Given the description of an element on the screen output the (x, y) to click on. 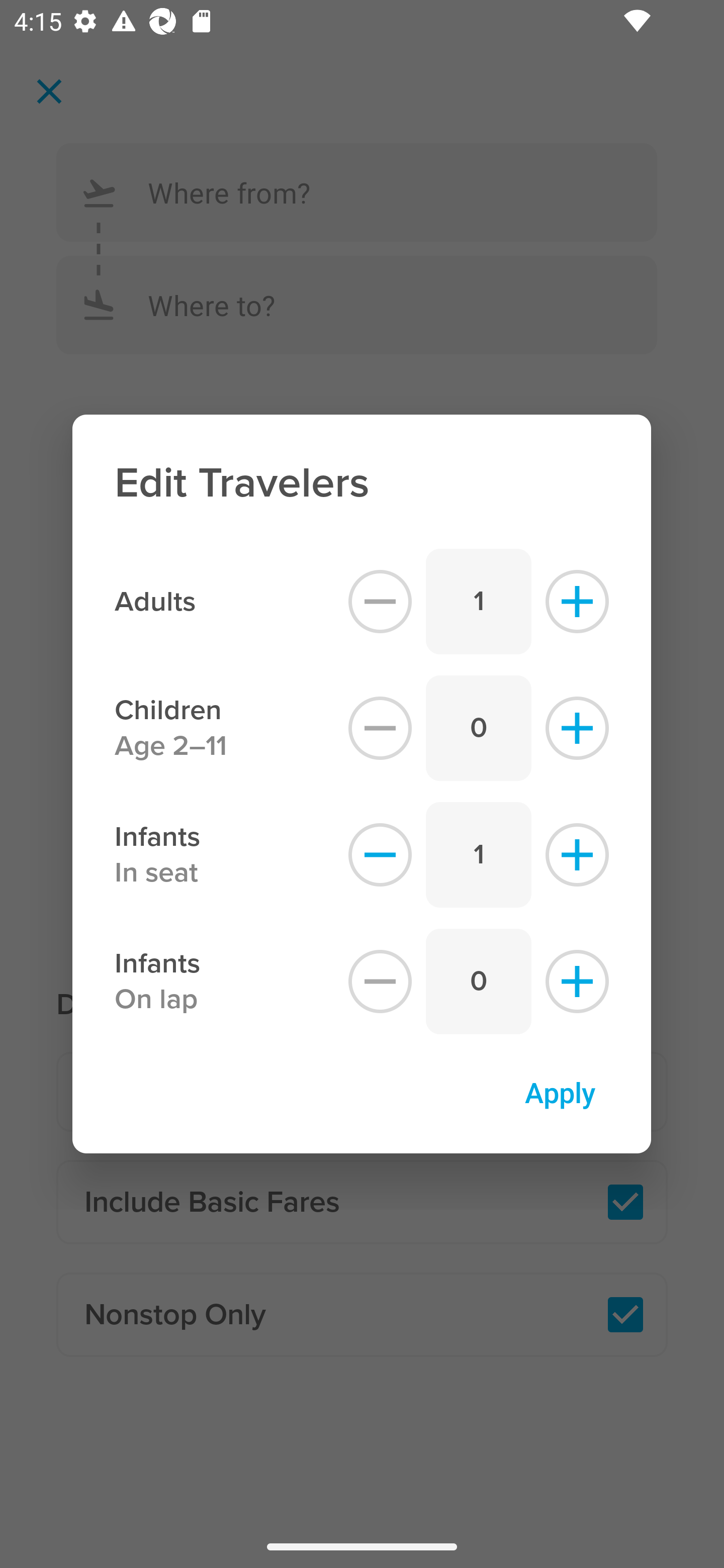
Decrease value (379, 600)
Increase value (576, 600)
Decrease value (379, 727)
Increase value (576, 727)
Decrease value (379, 854)
Increase value (576, 854)
Decrease value (379, 981)
Increase value (576, 981)
Apply (559, 1091)
